Given the description of an element on the screen output the (x, y) to click on. 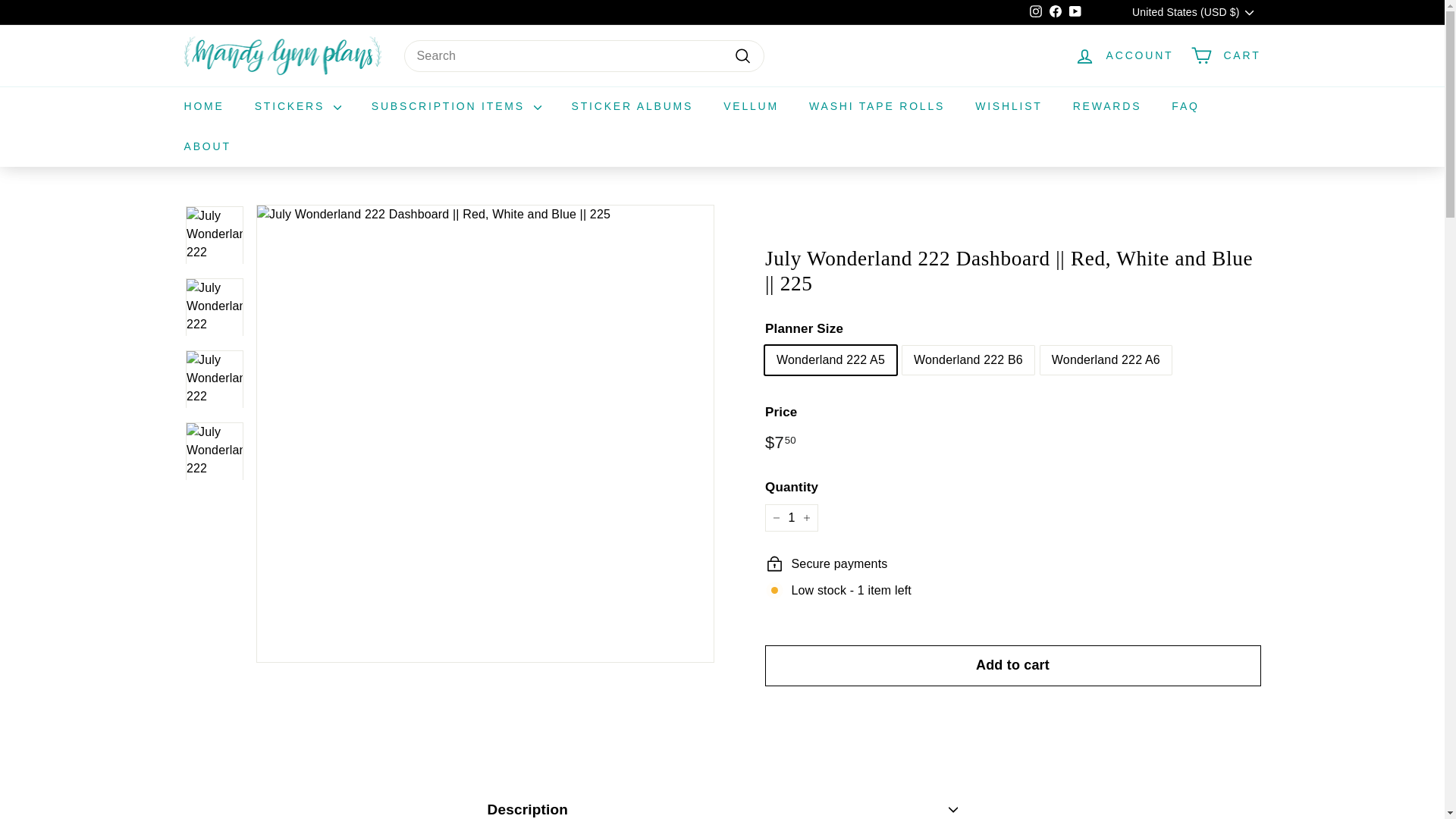
1 (790, 517)
ACCOUNT (1123, 55)
CART (1225, 55)
HOME (203, 106)
instagram (1035, 10)
